Given the description of an element on the screen output the (x, y) to click on. 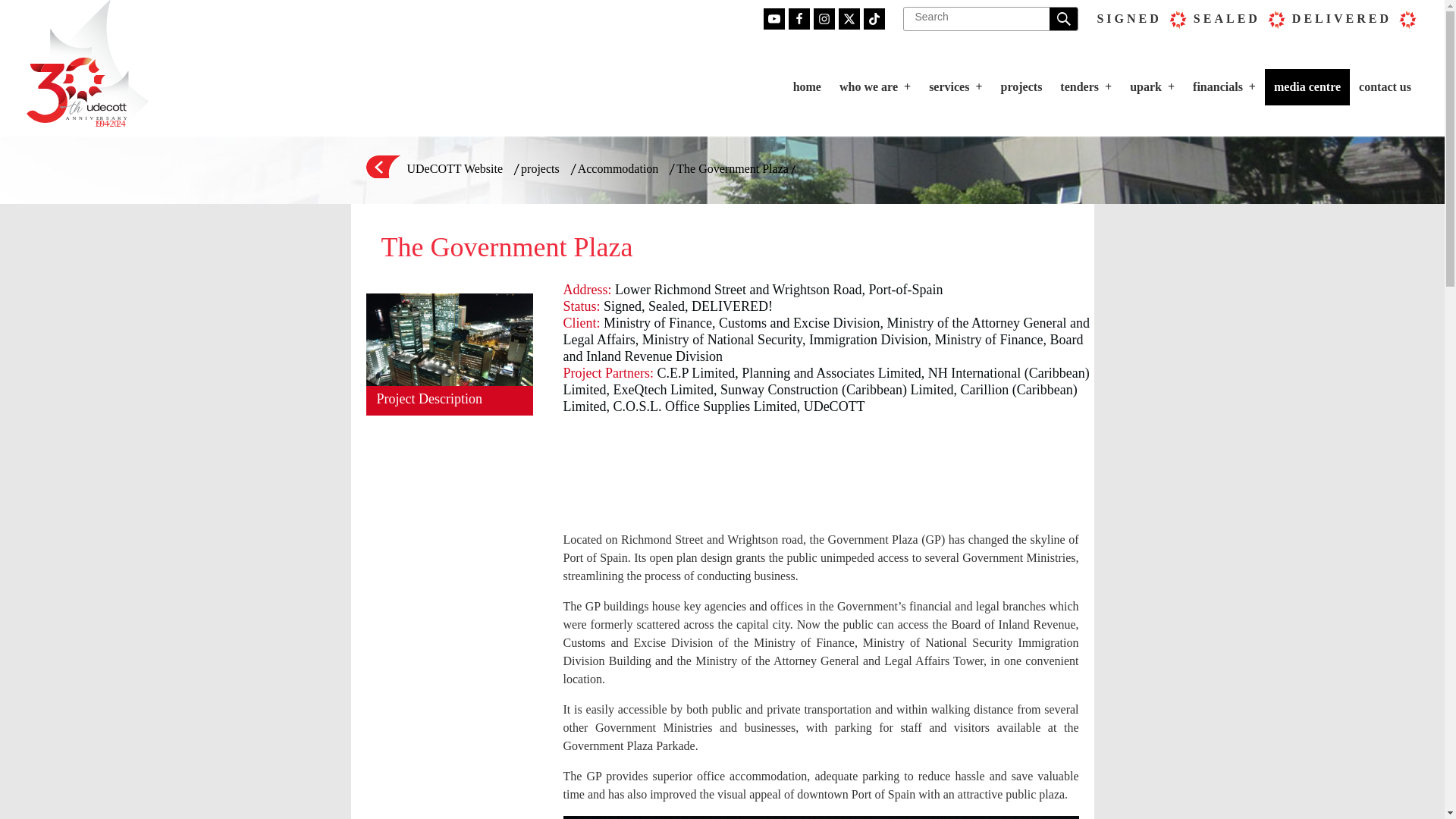
financials (1224, 86)
projects (1021, 86)
media centre (1307, 86)
Project Description (448, 399)
upark (1152, 86)
home (806, 86)
tenders (1086, 86)
who we are (874, 86)
services (955, 86)
contact us (1385, 86)
